Given the description of an element on the screen output the (x, y) to click on. 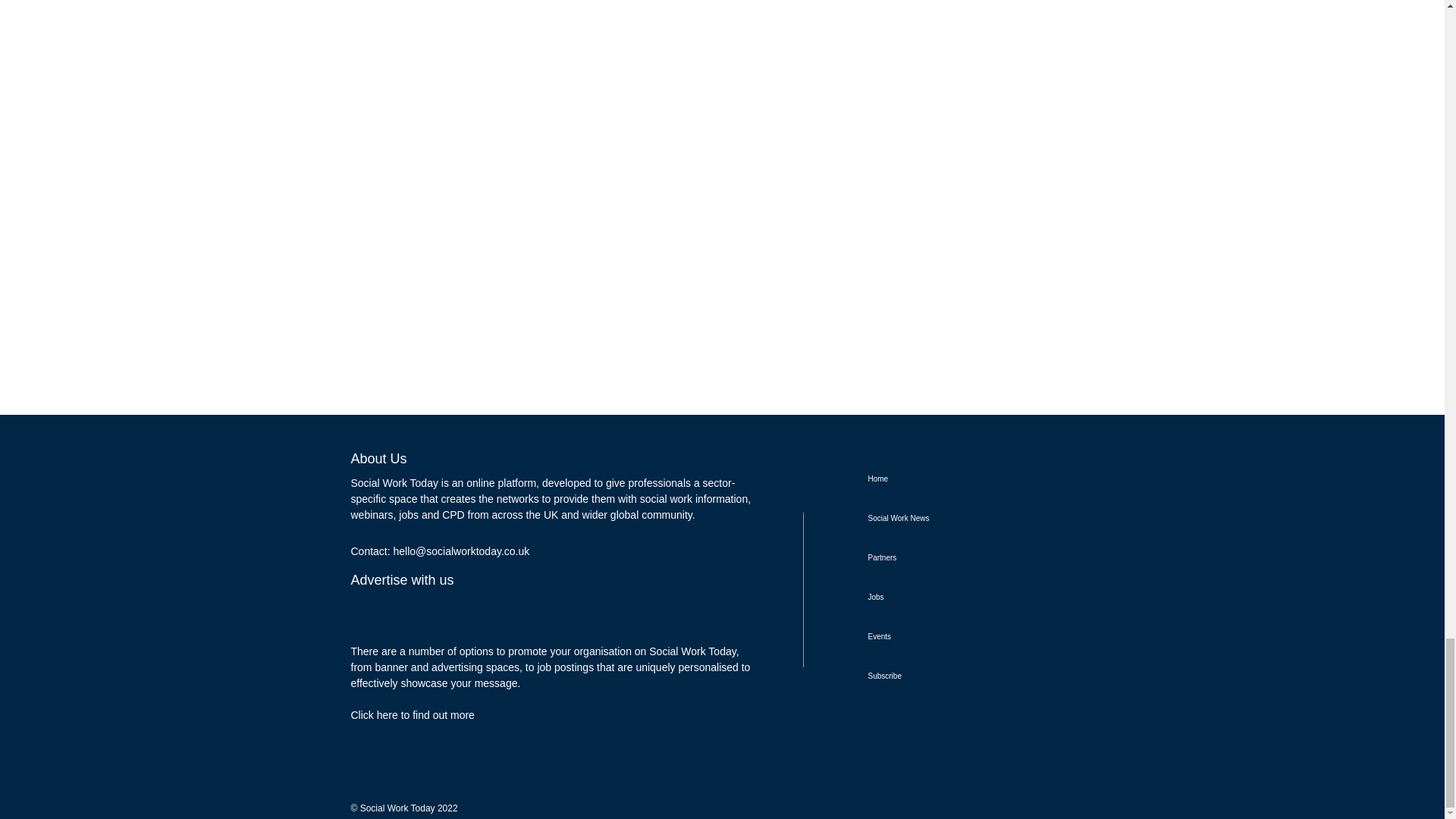
Events (955, 636)
Social Work News (955, 518)
Partners (955, 558)
Jobs (955, 597)
Home (955, 478)
Subscribe (955, 676)
